Given the description of an element on the screen output the (x, y) to click on. 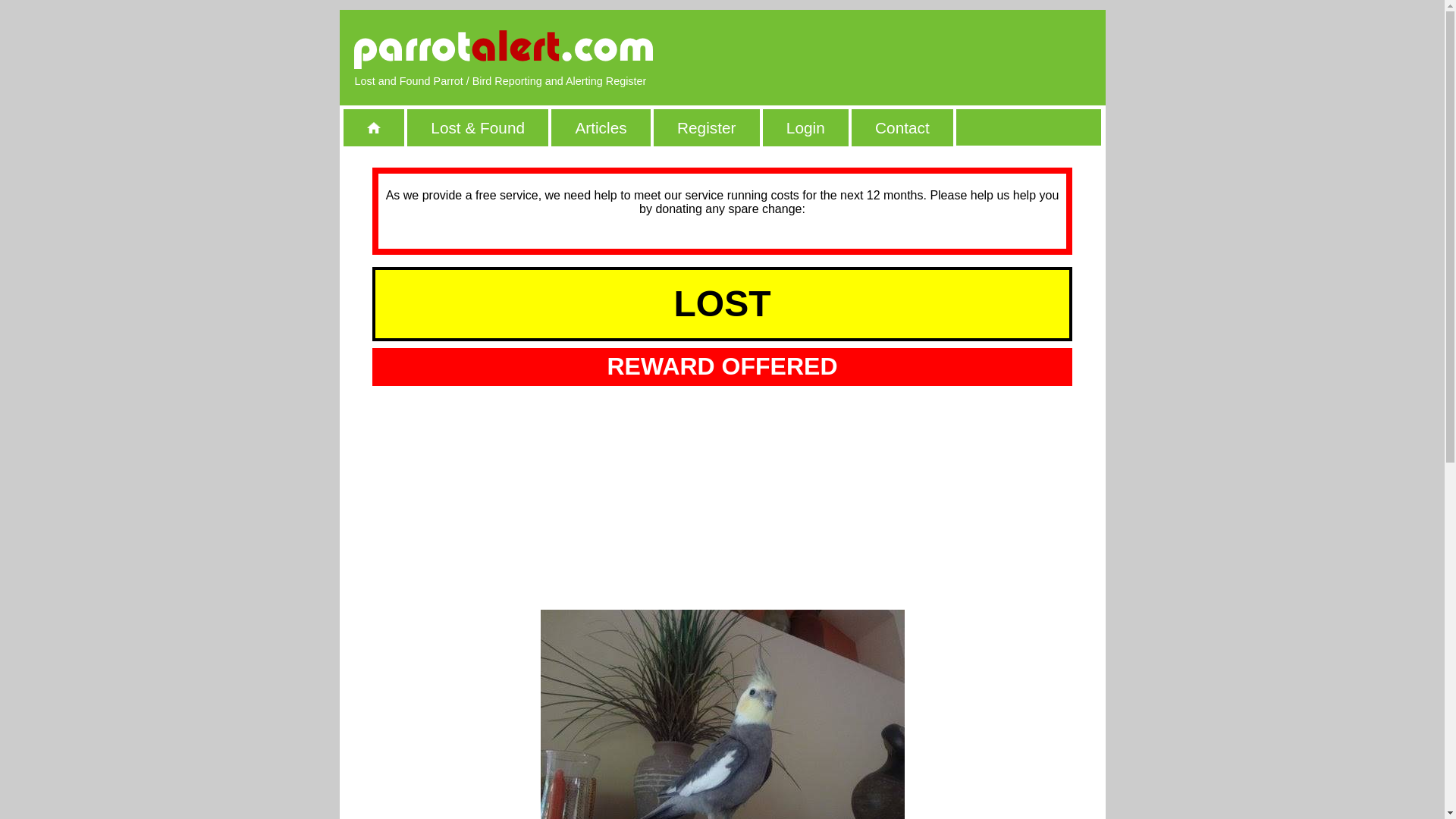
Lost Cockatiel (722, 714)
Articles (600, 127)
Contact (902, 127)
Login (805, 127)
Register (706, 127)
